Given the description of an element on the screen output the (x, y) to click on. 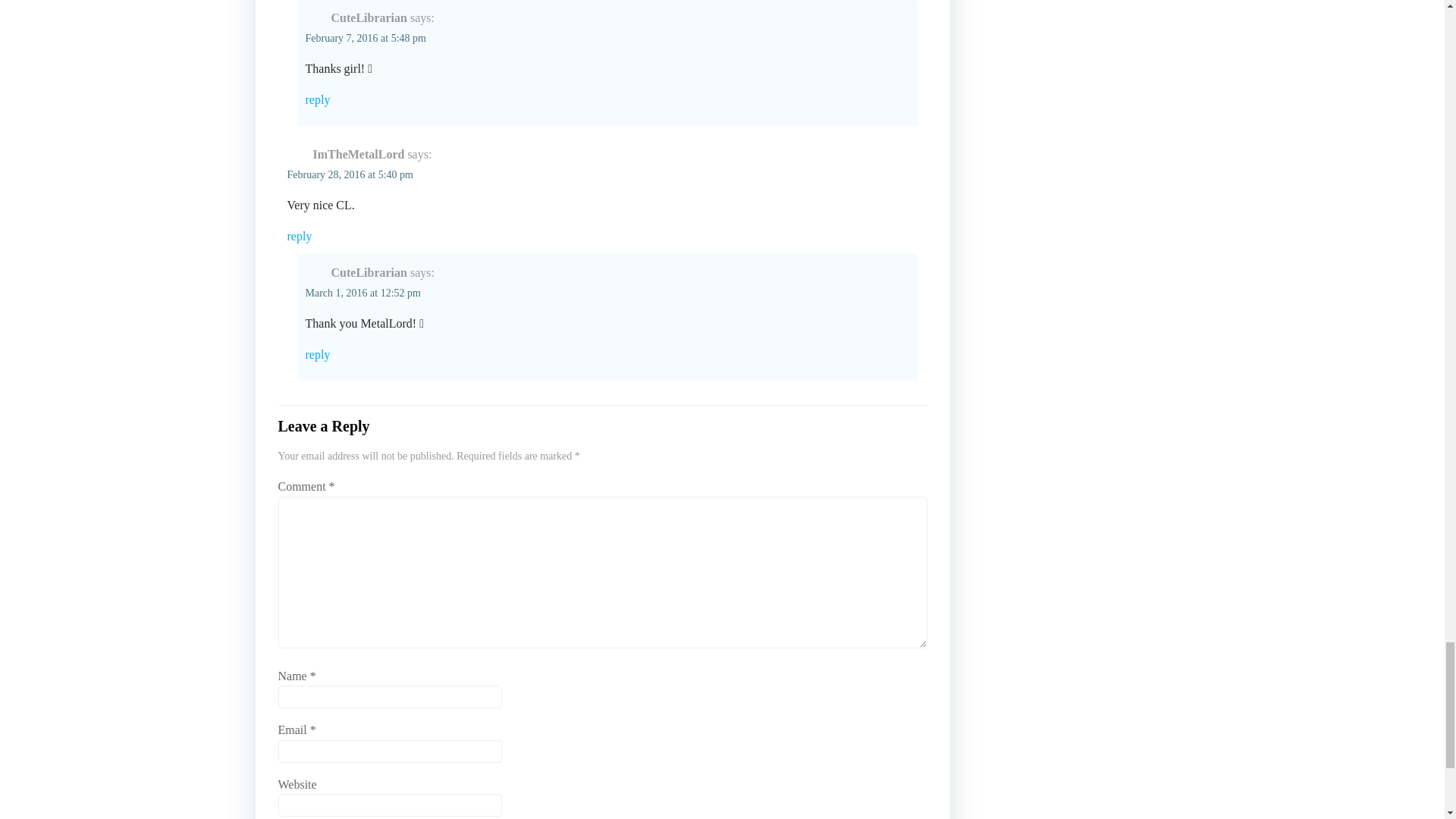
February 28, 2016 at 5:40 pm (349, 174)
February 7, 2016 at 5:48 pm (364, 38)
March 1, 2016 at 12:52 pm (362, 292)
reply (602, 236)
reply (606, 99)
reply (606, 354)
